Given the description of an element on the screen output the (x, y) to click on. 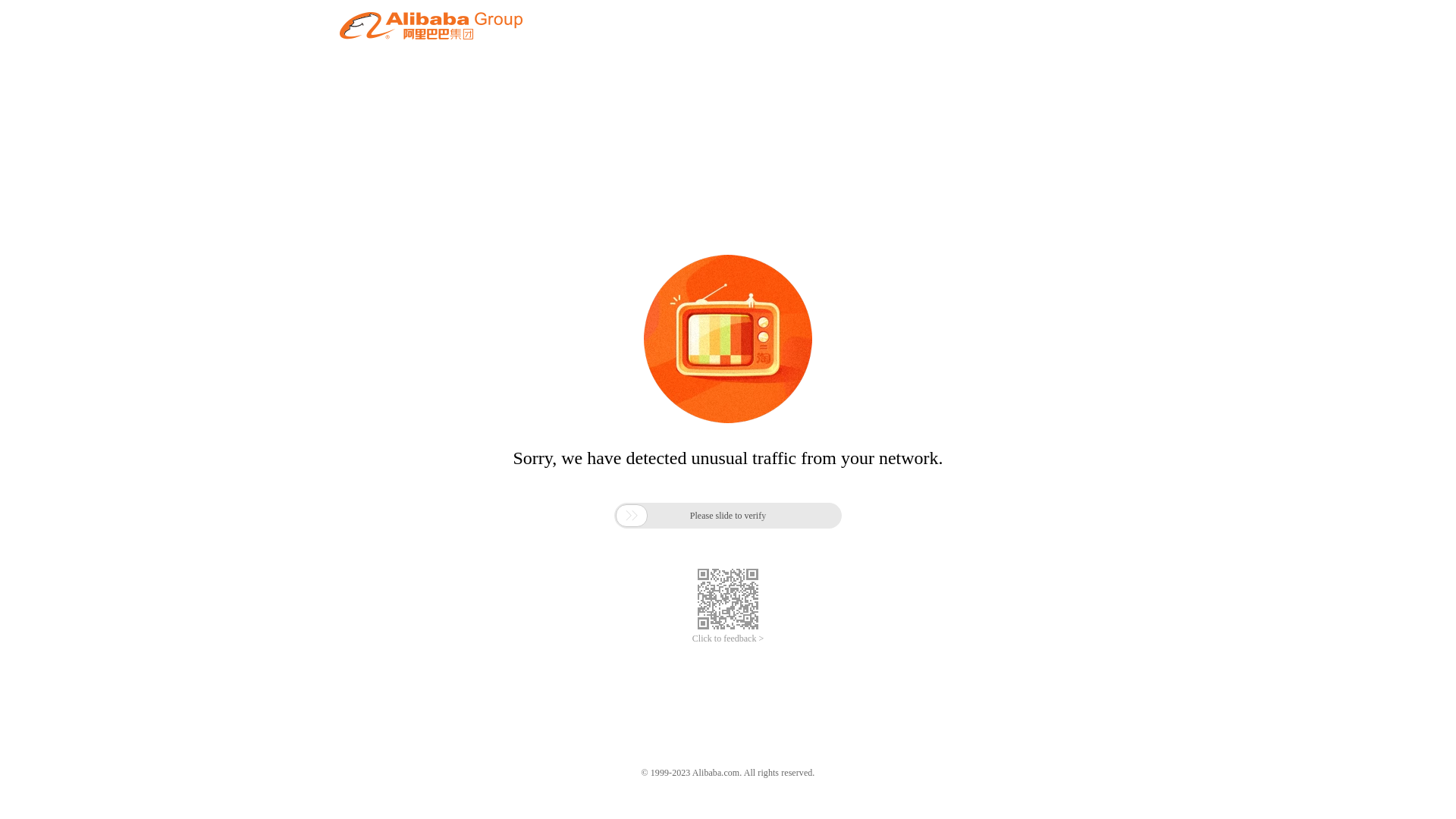
Click to feedback > Element type: text (727, 638)
